Given the description of an element on the screen output the (x, y) to click on. 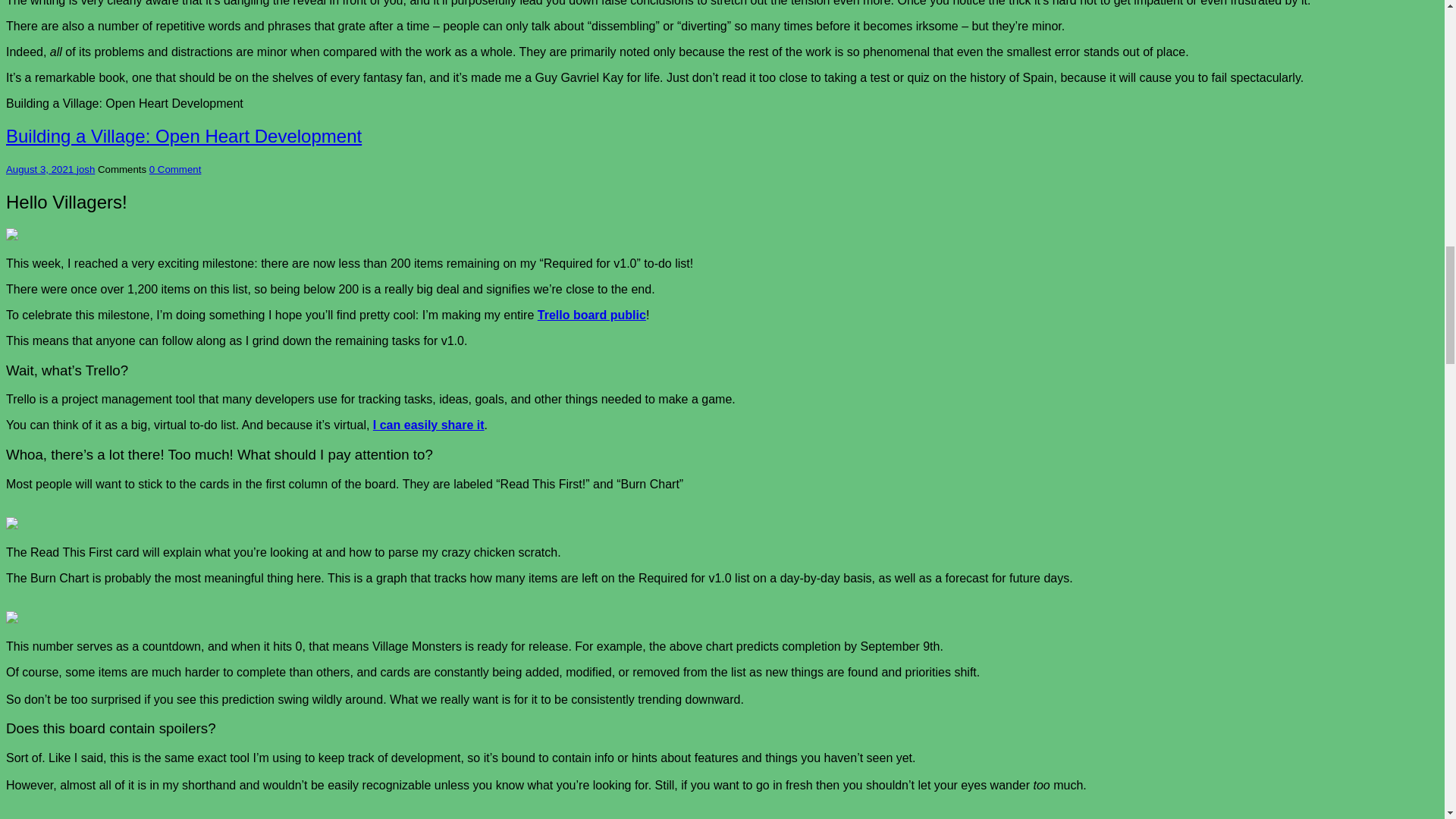
I can easily share it (428, 424)
Building a Village: Open Heart Development (183, 136)
josh (85, 169)
12:53 pm (41, 169)
August 3, 2021 (41, 169)
Trello board public (591, 314)
0 Comment (175, 169)
View all posts by josh (85, 169)
